Given the description of an element on the screen output the (x, y) to click on. 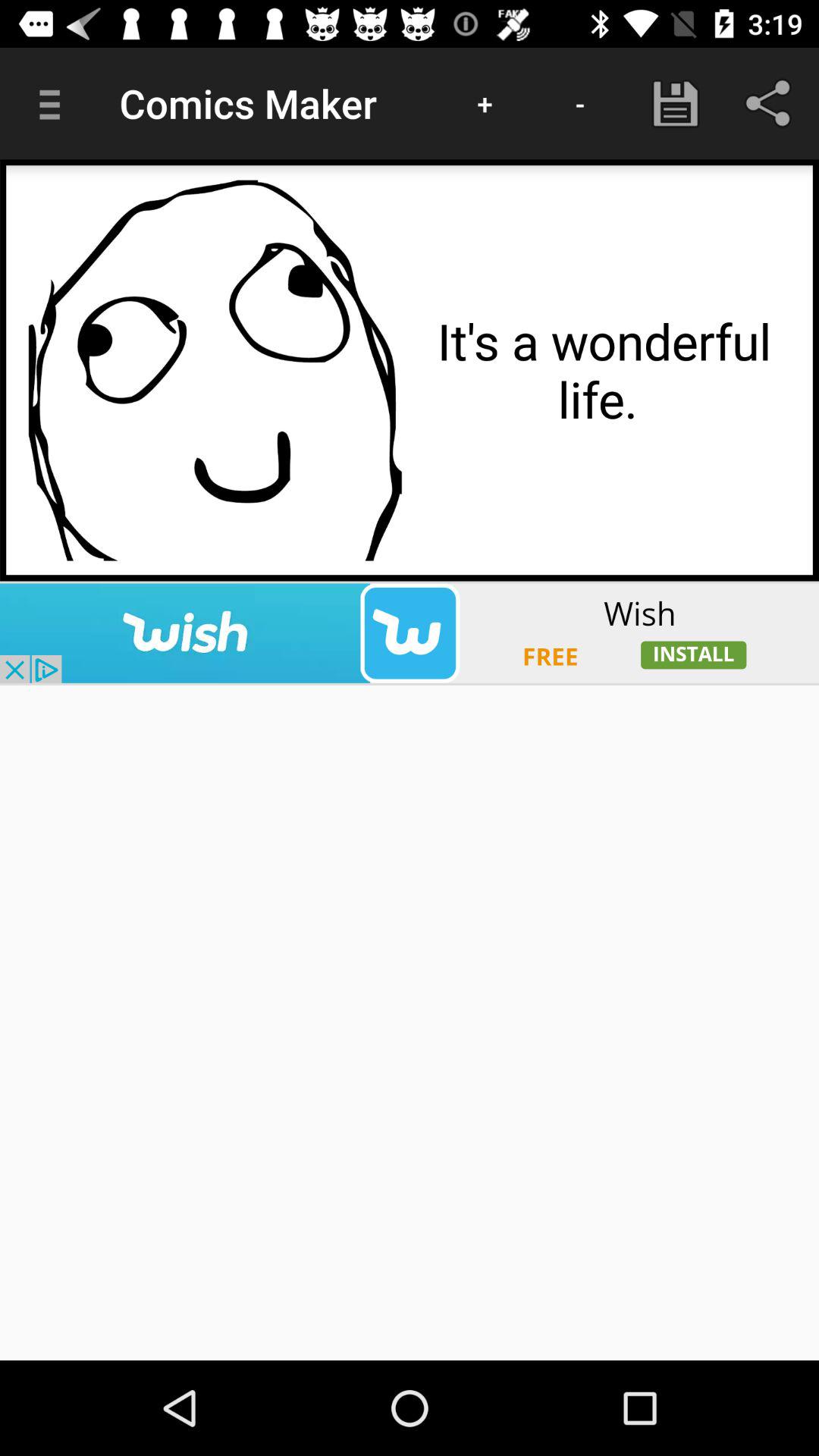
advertisement (409, 633)
